Given the description of an element on the screen output the (x, y) to click on. 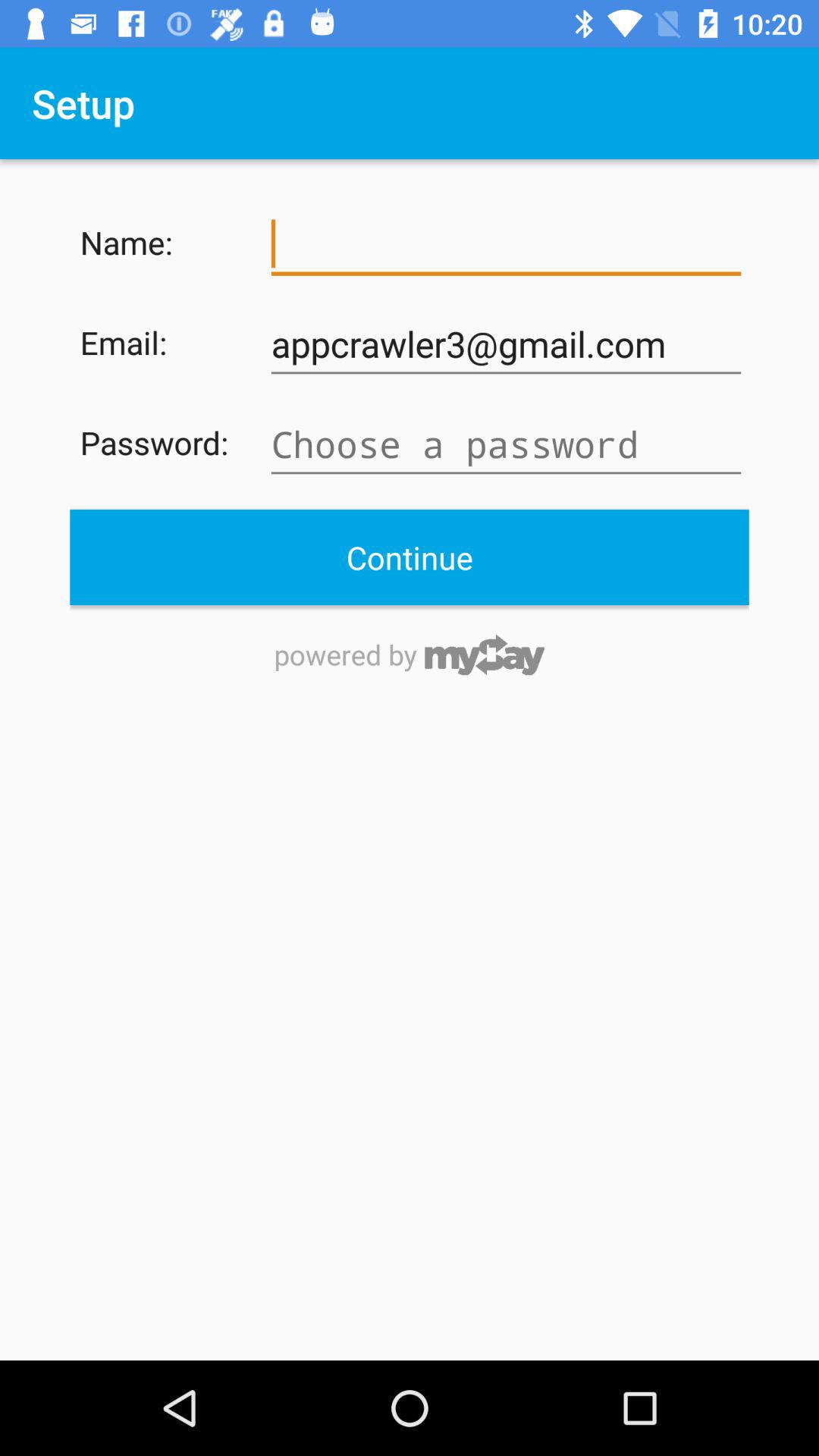
scroll to continue item (409, 557)
